Given the description of an element on the screen output the (x, y) to click on. 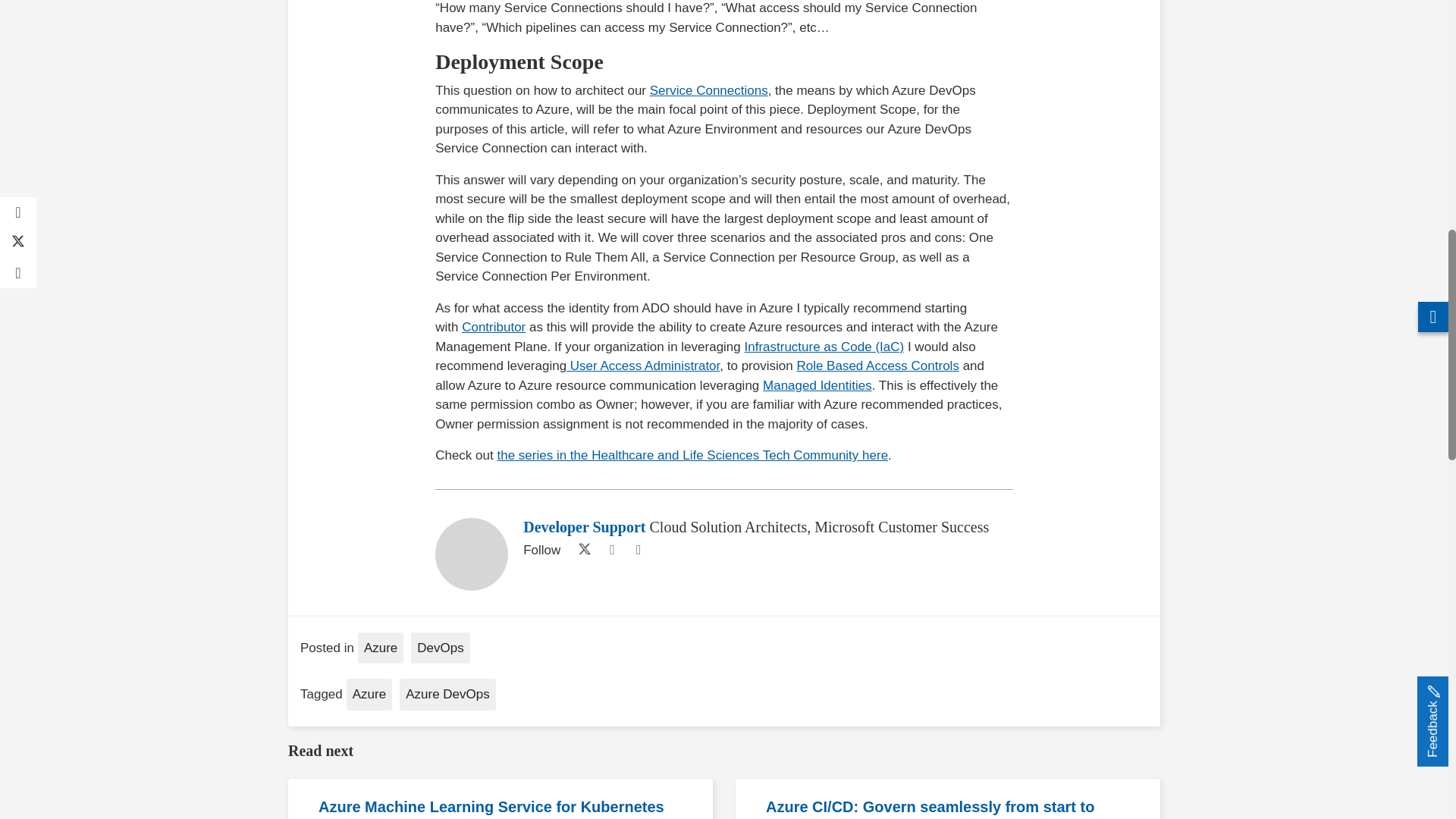
RSS Feed (637, 549)
Linkedin (611, 549)
Twitter (581, 549)
